Given the description of an element on the screen output the (x, y) to click on. 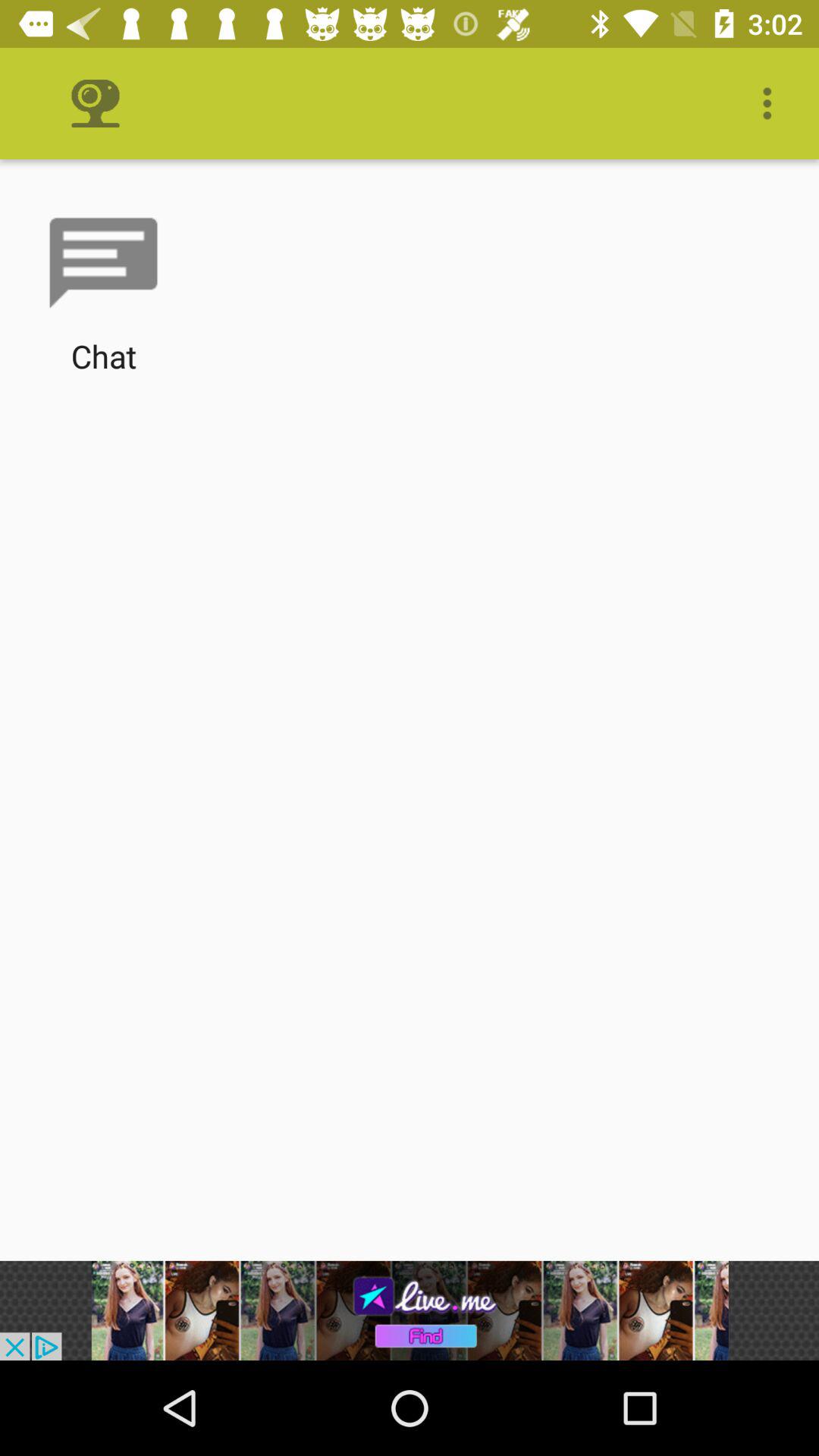
give advertisement information (409, 1310)
